Given the description of an element on the screen output the (x, y) to click on. 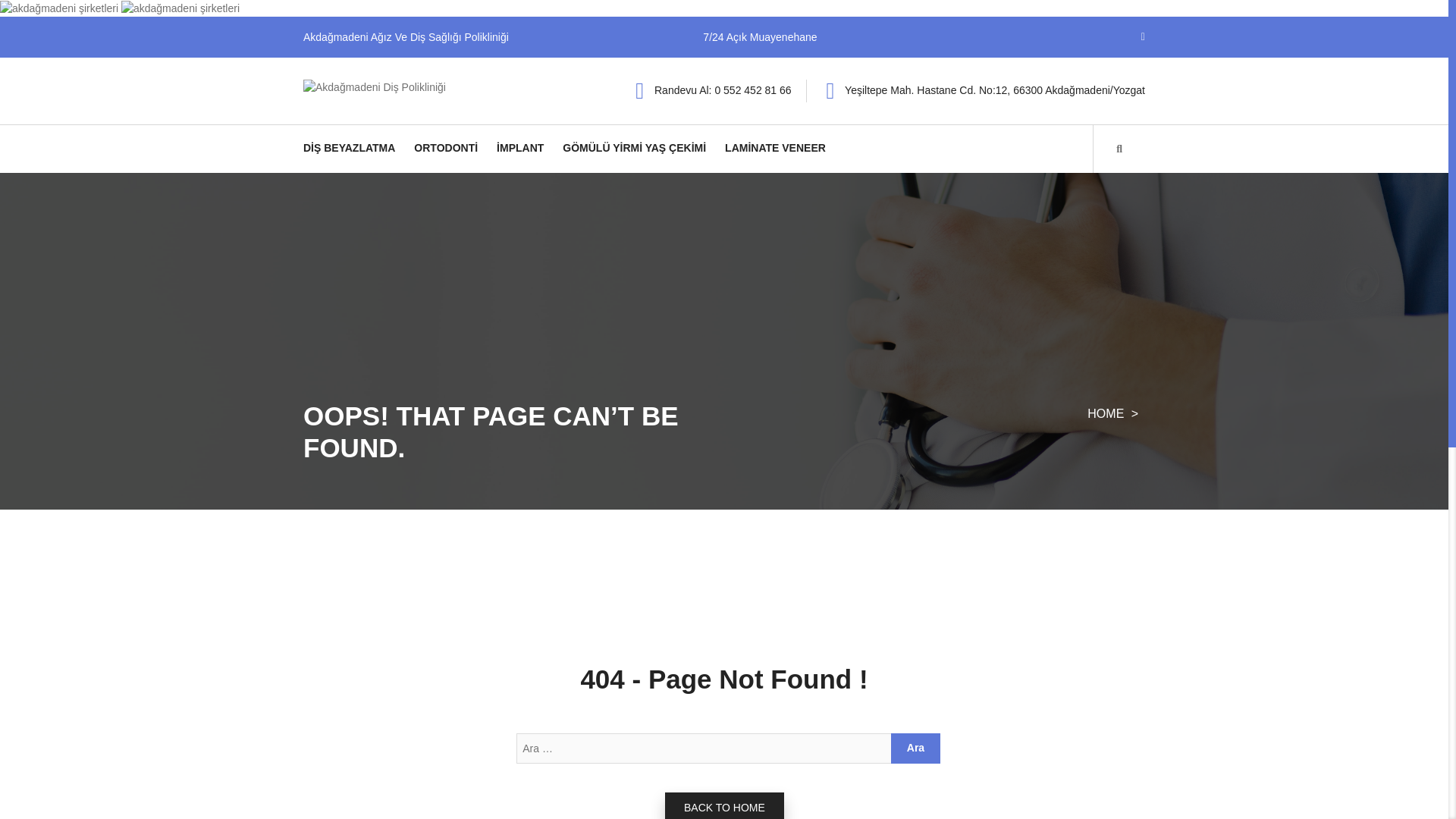
LAMINATE VENEER (775, 145)
Ara (915, 748)
BACK TO HOME (724, 805)
HOME (1106, 413)
Ara (915, 748)
Ara (915, 748)
